Given the description of an element on the screen output the (x, y) to click on. 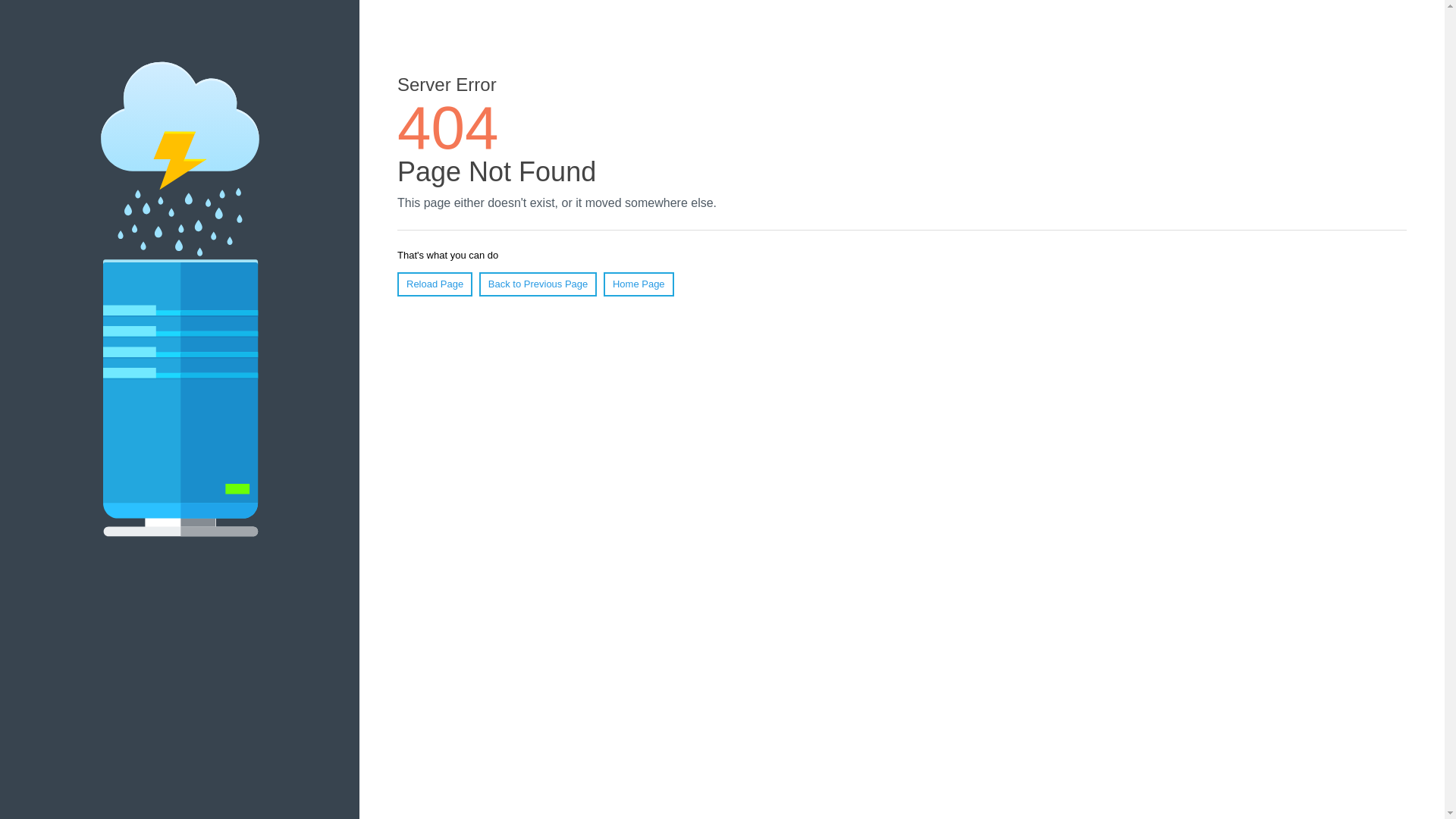
Home Page Element type: text (638, 284)
Reload Page Element type: text (434, 284)
Back to Previous Page Element type: text (538, 284)
